Given the description of an element on the screen output the (x, y) to click on. 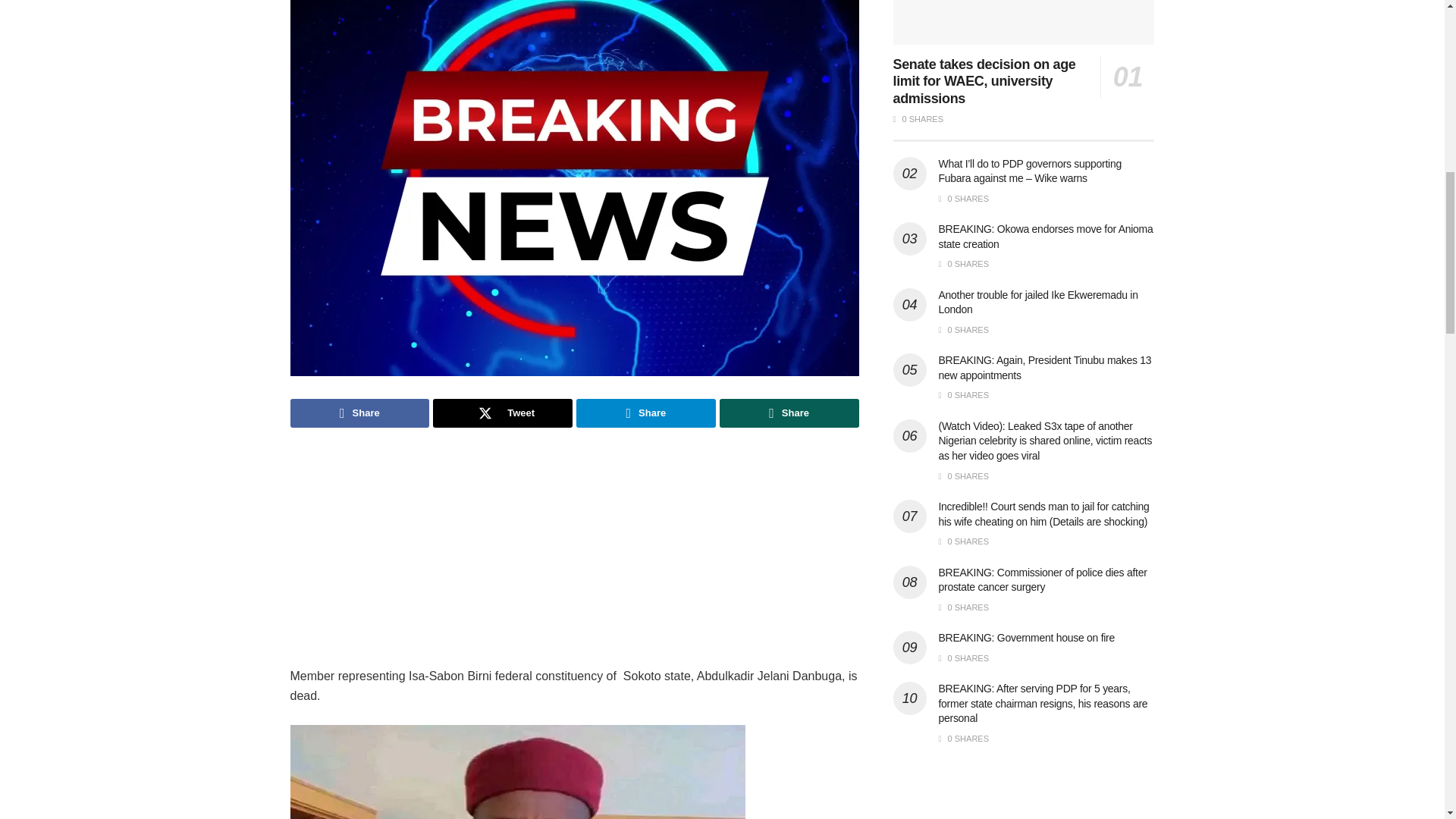
Share (789, 412)
Advertisement (1023, 798)
Advertisement (574, 560)
Tweet (502, 412)
Share (646, 412)
Share (359, 412)
